Given the description of an element on the screen output the (x, y) to click on. 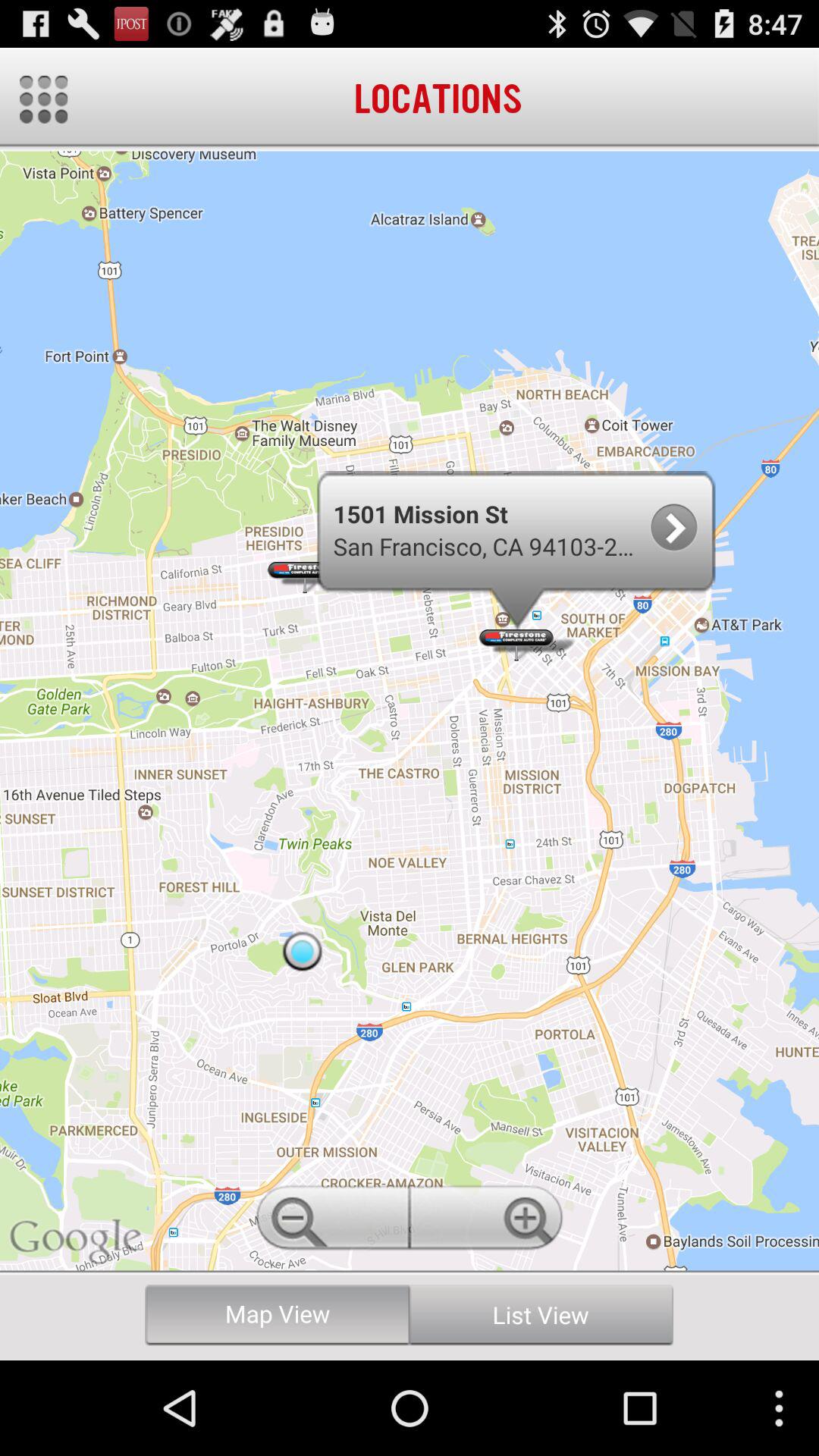
go to menu (43, 99)
